Given the description of an element on the screen output the (x, y) to click on. 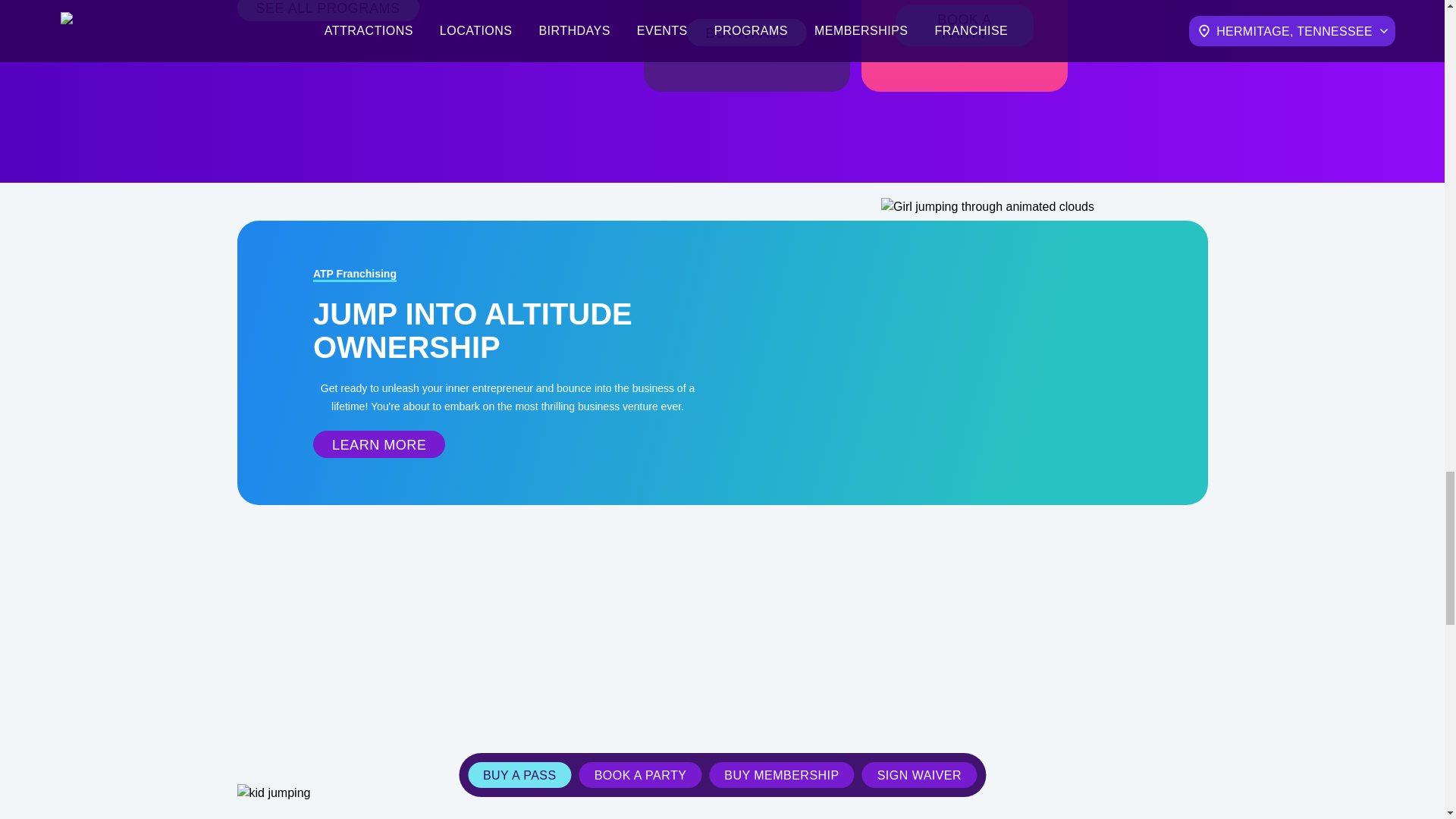
SEE ALL PROGRAMS (327, 10)
